Given the description of an element on the screen output the (x, y) to click on. 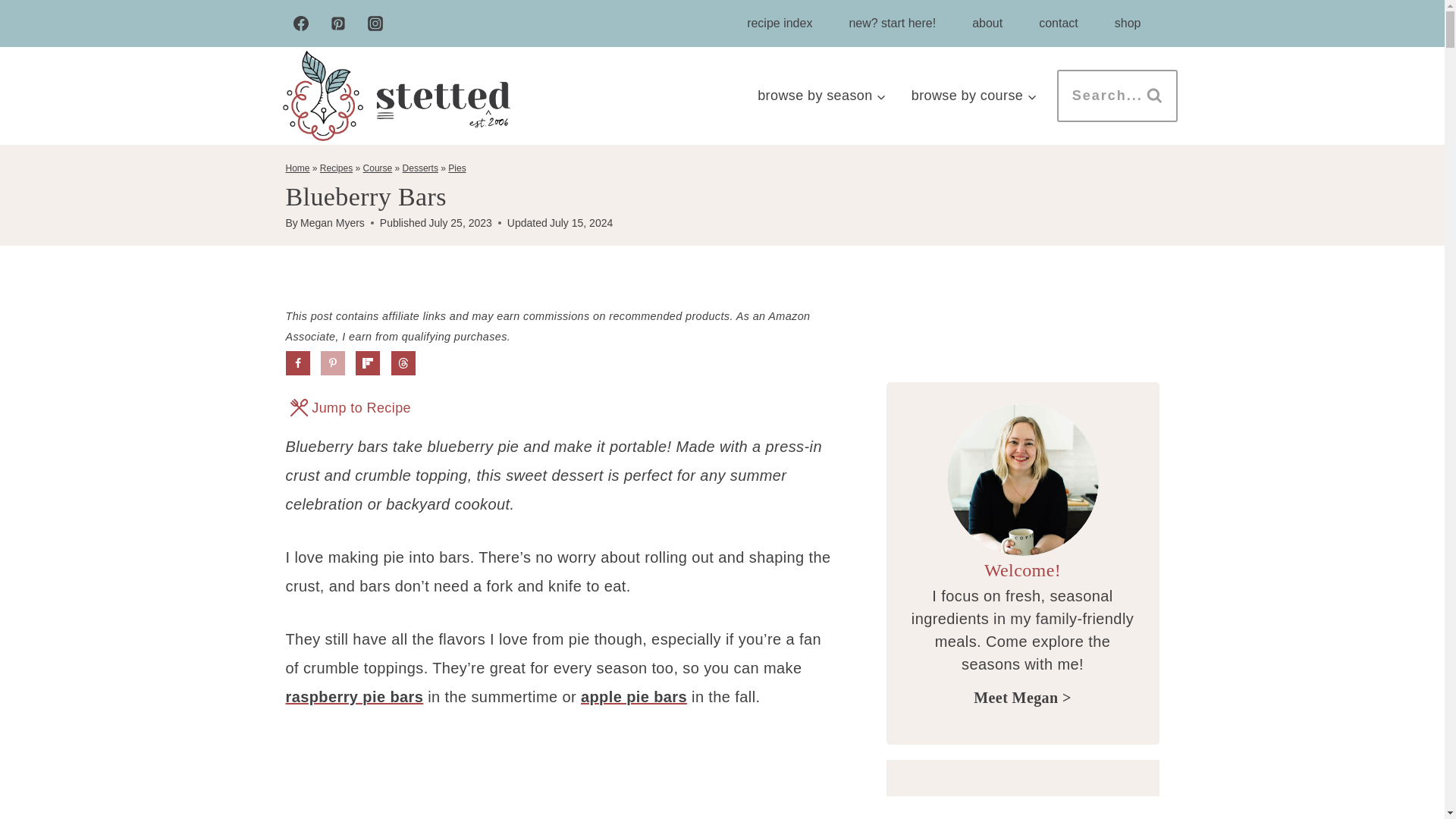
Pies (456, 167)
shop (1127, 23)
browse by course (973, 95)
Desserts (420, 167)
Save to Pinterest (332, 363)
new? start here! (891, 23)
contact (1058, 23)
Search... (1117, 95)
Home (296, 167)
Recipes (336, 167)
Megan Myers (332, 223)
recipe index (779, 23)
Jump to Recipe (349, 407)
Share on Threads (402, 363)
Share on Facebook (296, 363)
